Given the description of an element on the screen output the (x, y) to click on. 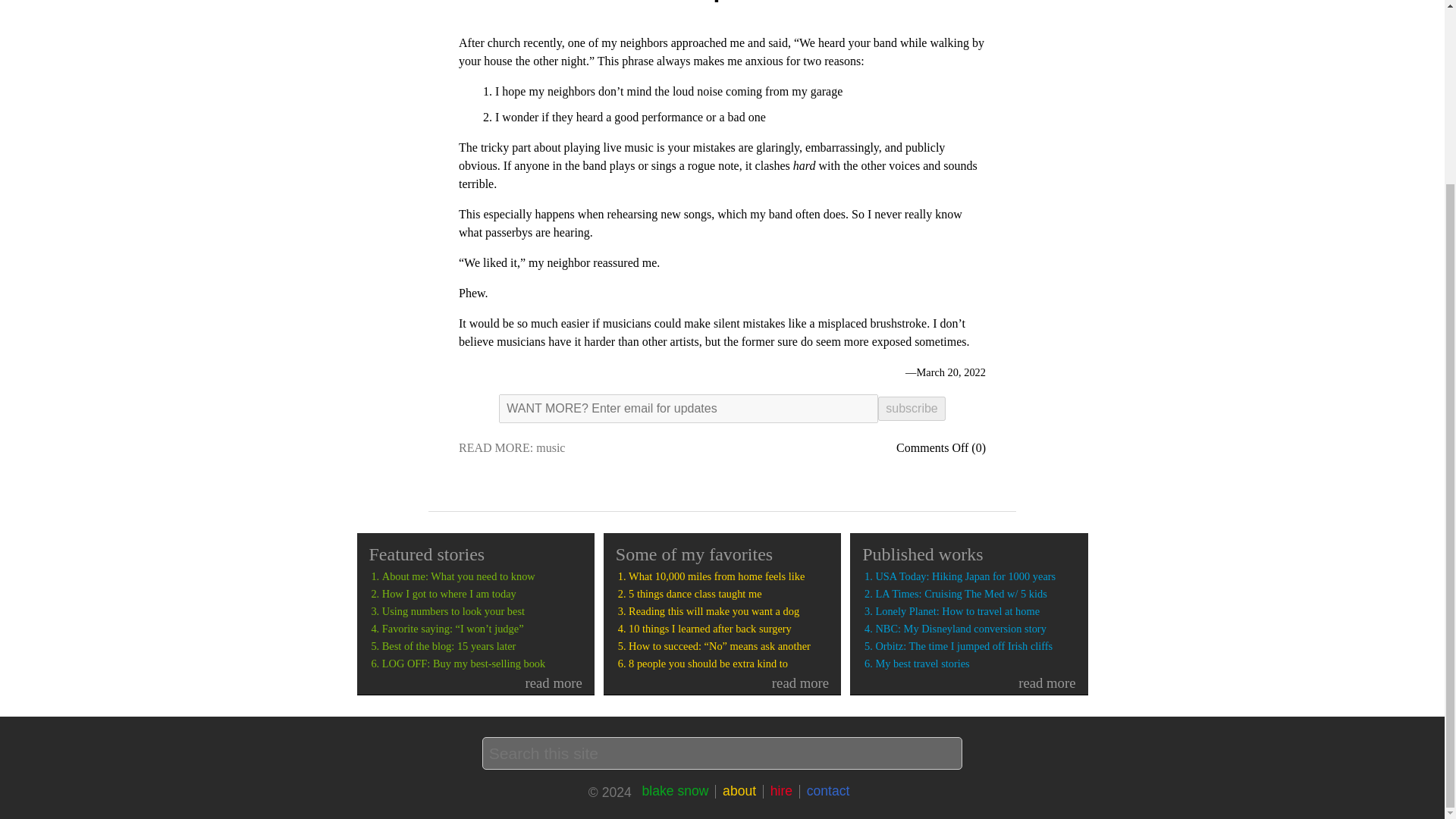
10 things I learned after back surgery (728, 628)
How I got to where I am today (481, 594)
8 people you should be extra kind to (728, 663)
subscribe (910, 408)
USA Today: Hiking Japan for 1000 years (975, 576)
read more (728, 682)
hire (780, 790)
Reading this will make you want a dog (728, 611)
LOG OFF: Buy my best-selling book (481, 663)
read more (975, 682)
What 10,000 miles from home feels like (728, 576)
About me: What you need to know (481, 576)
My best travel stories (975, 663)
read more (481, 682)
NBC: My Disneyland conversion story (975, 628)
